Given the description of an element on the screen output the (x, y) to click on. 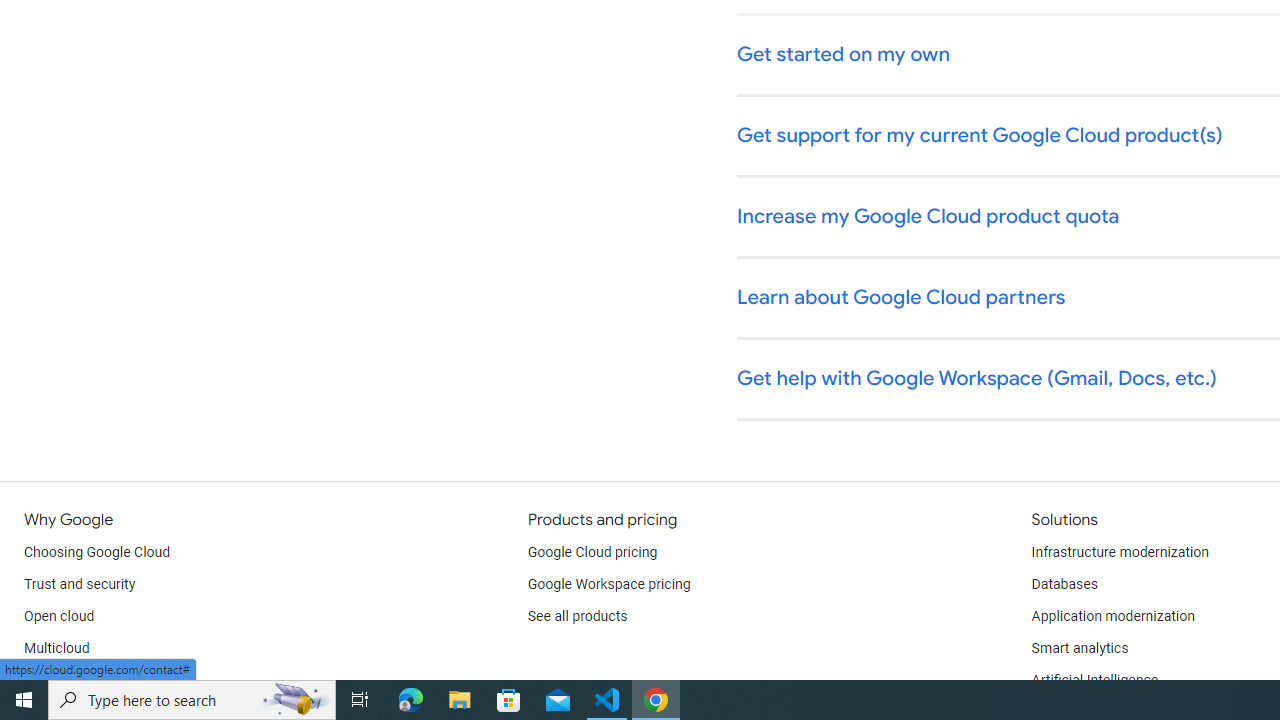
Smart analytics (1079, 648)
See all products (577, 616)
Choosing Google Cloud (97, 552)
Trust and security (79, 584)
Multicloud (56, 648)
Global infrastructure (88, 680)
Artificial Intelligence (1094, 680)
Google Cloud pricing (592, 552)
Google Workspace pricing (609, 584)
Application modernization (1112, 616)
Infrastructure modernization (1119, 552)
Open cloud (59, 616)
Databases (1064, 584)
